Given the description of an element on the screen output the (x, y) to click on. 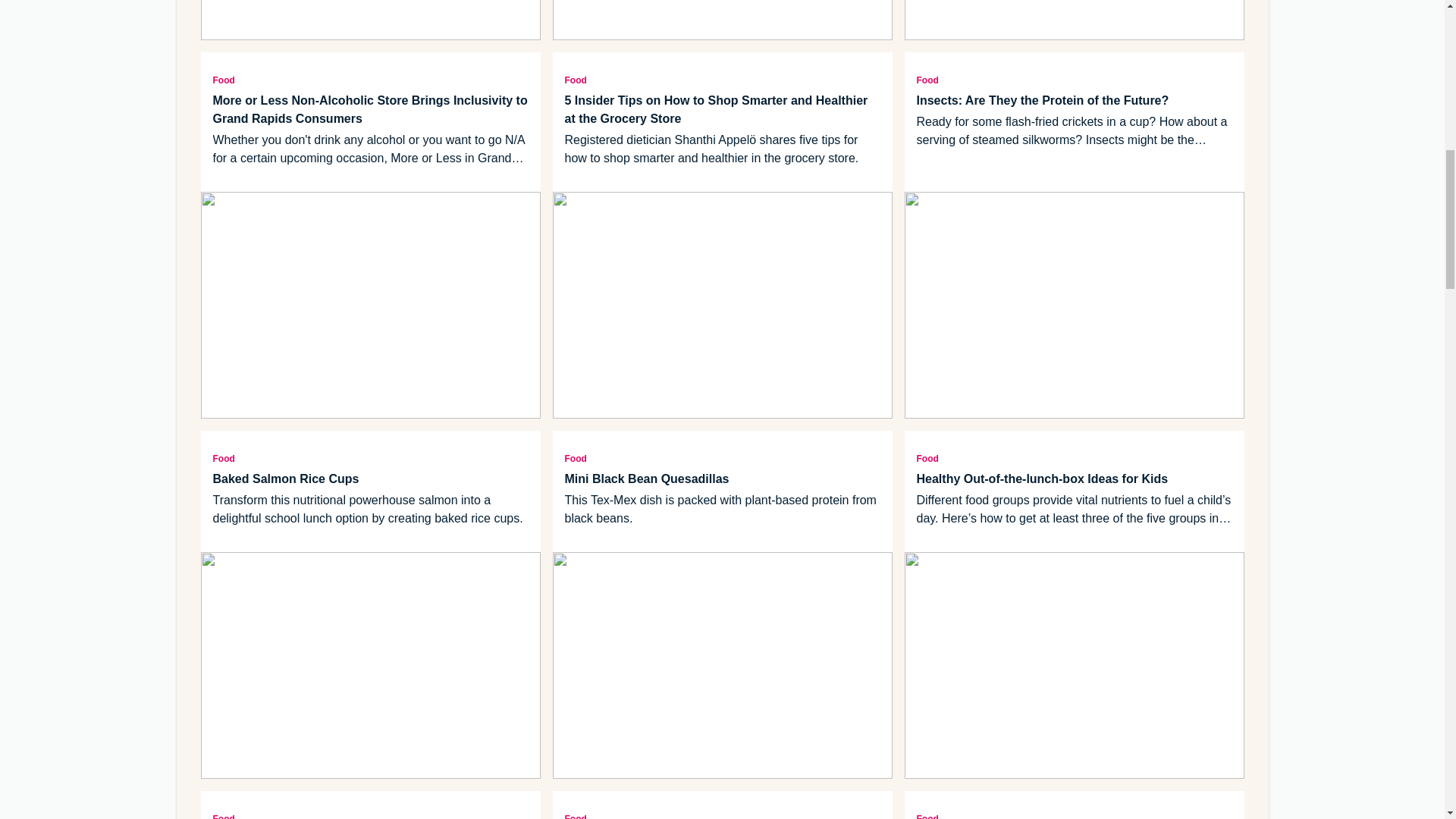
Food (721, 457)
Food (1073, 457)
Mini Black Bean Quesadillas (721, 479)
Food (369, 814)
Food (721, 79)
Insects: Are They the Protein of the Future? (1073, 100)
Healthy Out-of-the-lunch-box Ideas for Kids (1073, 479)
Food (369, 79)
Food (369, 457)
Baked Salmon Rice Cups (369, 479)
Food (1073, 79)
